Given the description of an element on the screen output the (x, y) to click on. 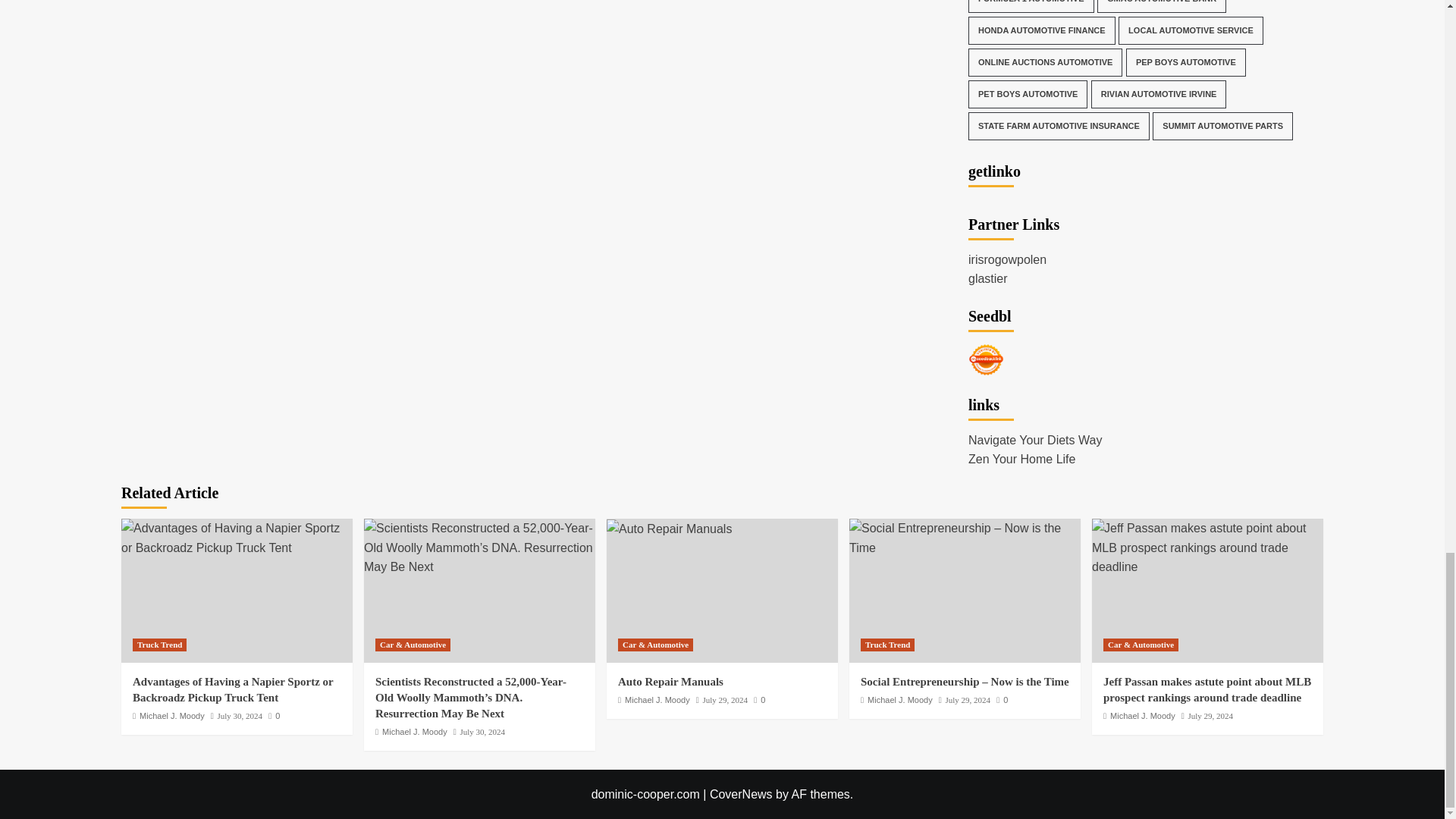
Seedbacklink (986, 359)
